Given the description of an element on the screen output the (x, y) to click on. 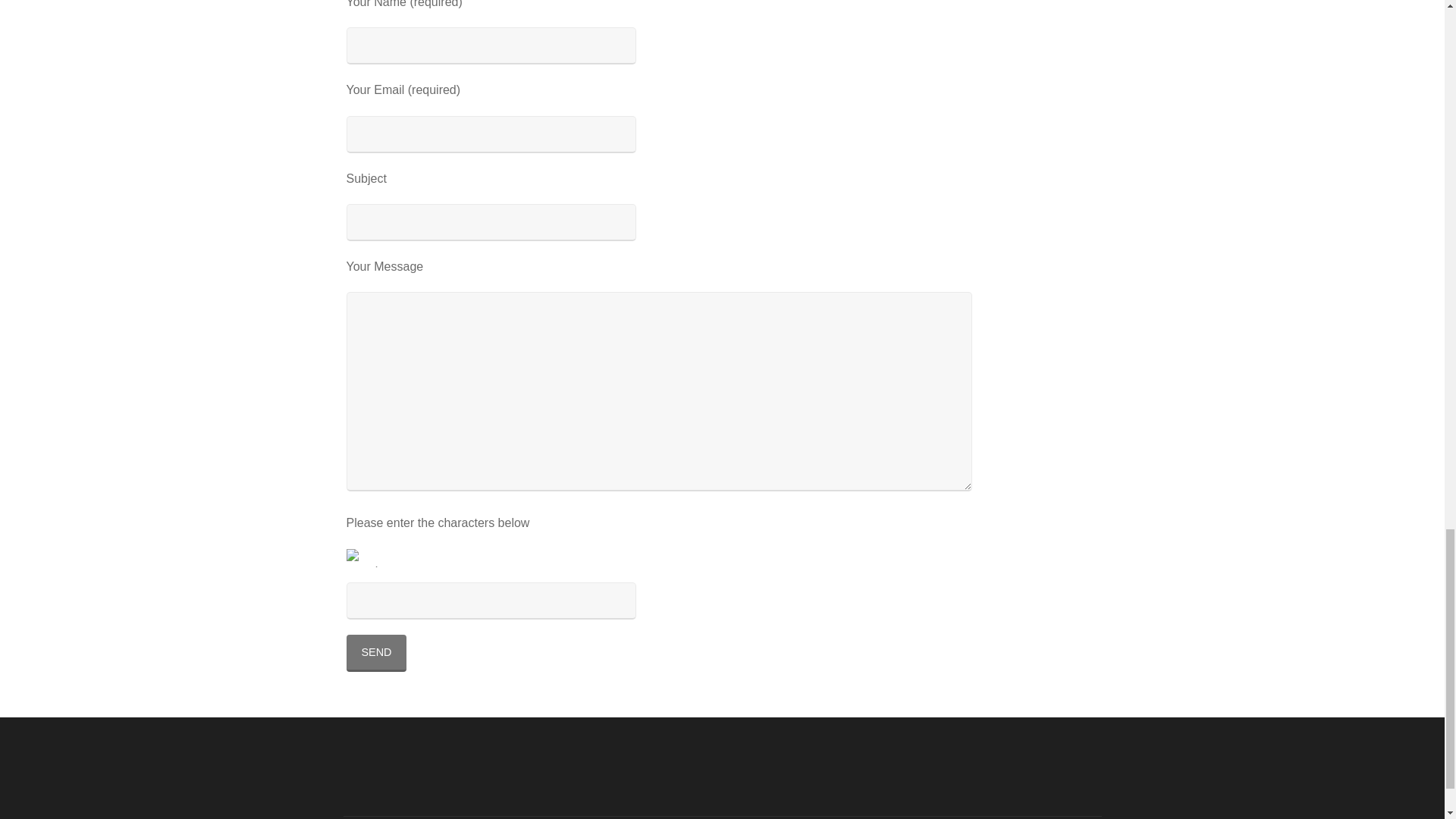
Send (376, 652)
Send (376, 652)
